Given the description of an element on the screen output the (x, y) to click on. 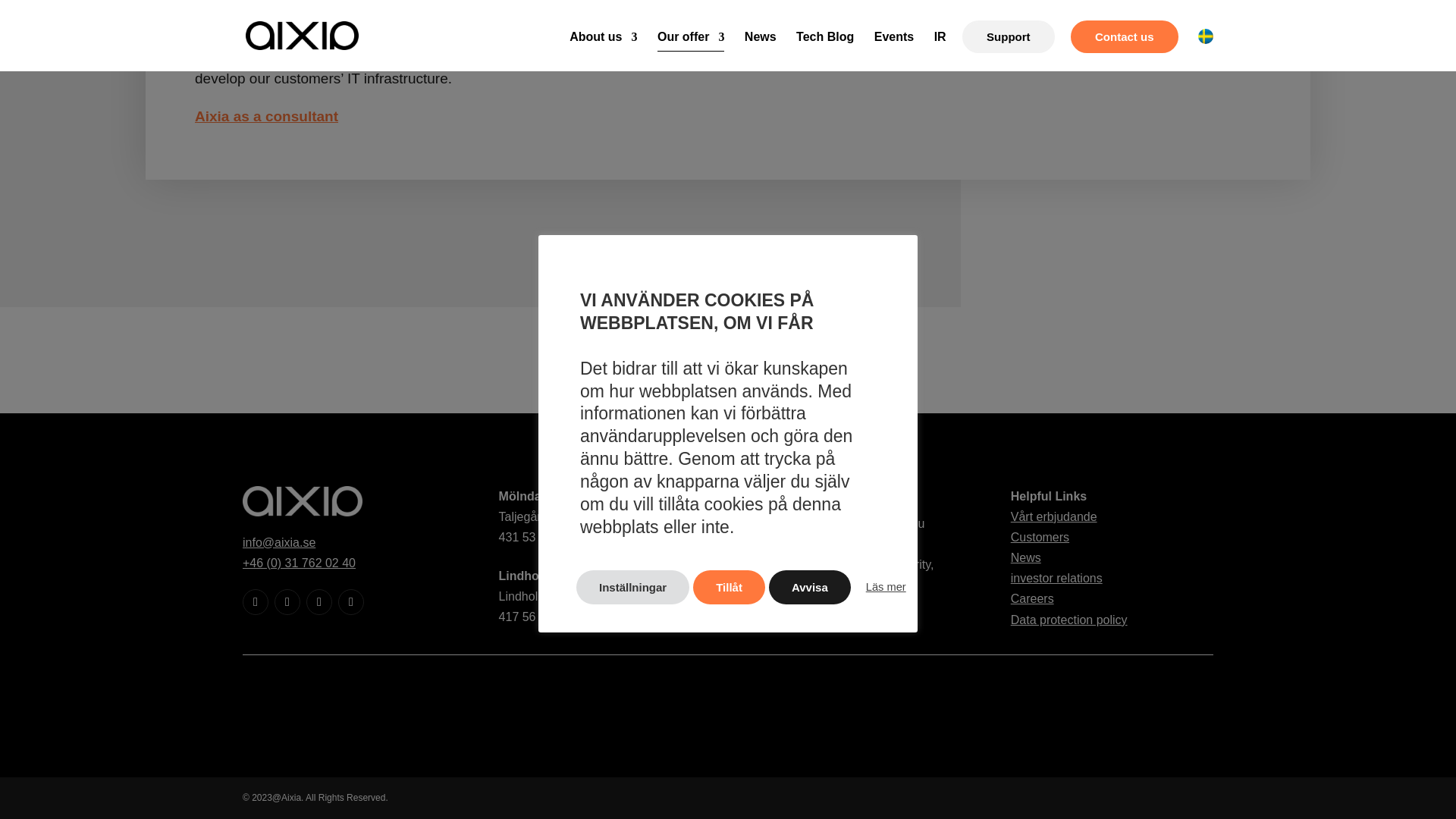
Follow on Instagram (287, 601)
Follow on X (255, 601)
Follow on LinkedIn (318, 601)
Follow on Facebook (350, 601)
